Given the description of an element on the screen output the (x, y) to click on. 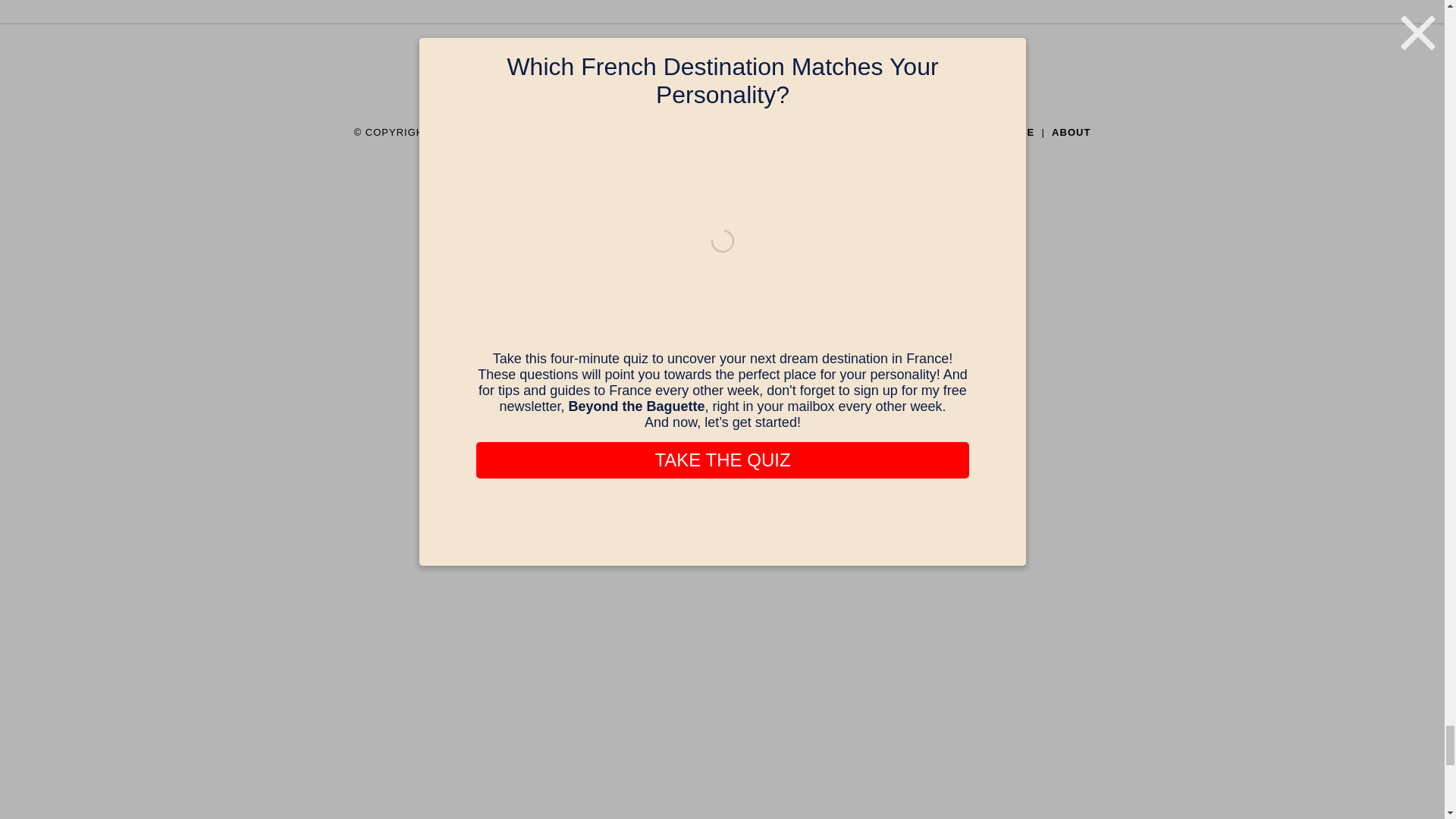
DuckDuckGo Search (855, 80)
